Given the description of an element on the screen output the (x, y) to click on. 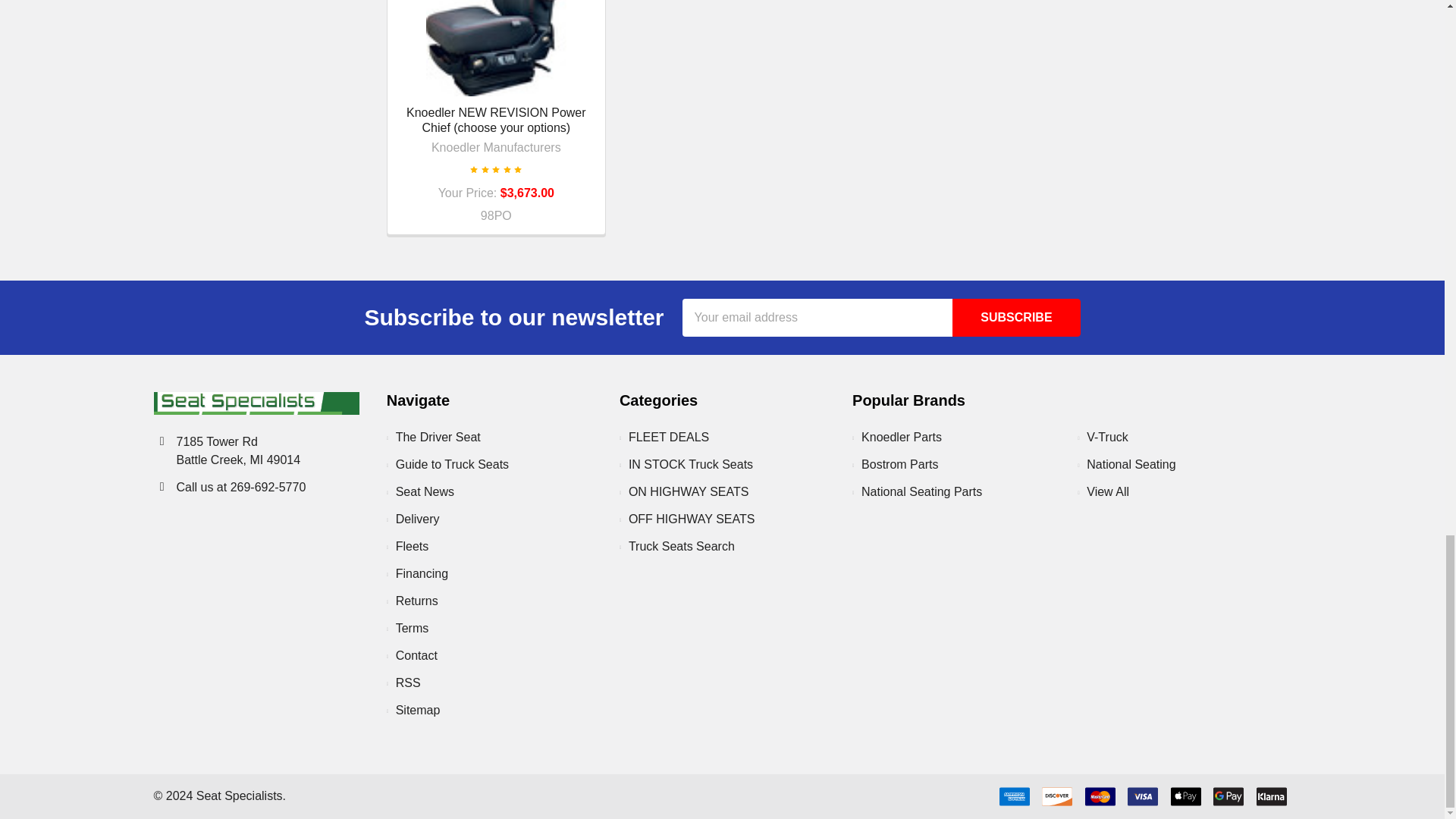
Subscribe (1016, 317)
